Given the description of an element on the screen output the (x, y) to click on. 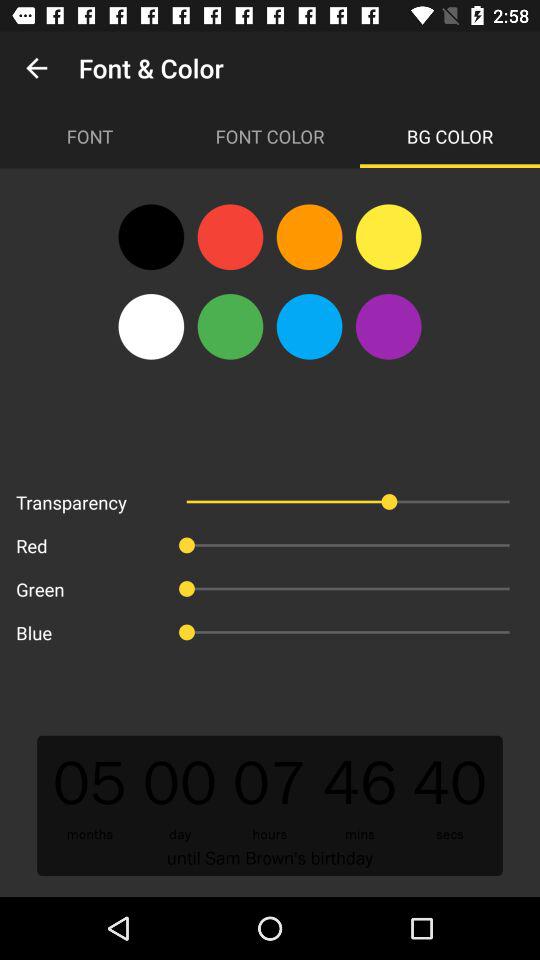
launch app to the left of font & color icon (36, 68)
